Given the description of an element on the screen output the (x, y) to click on. 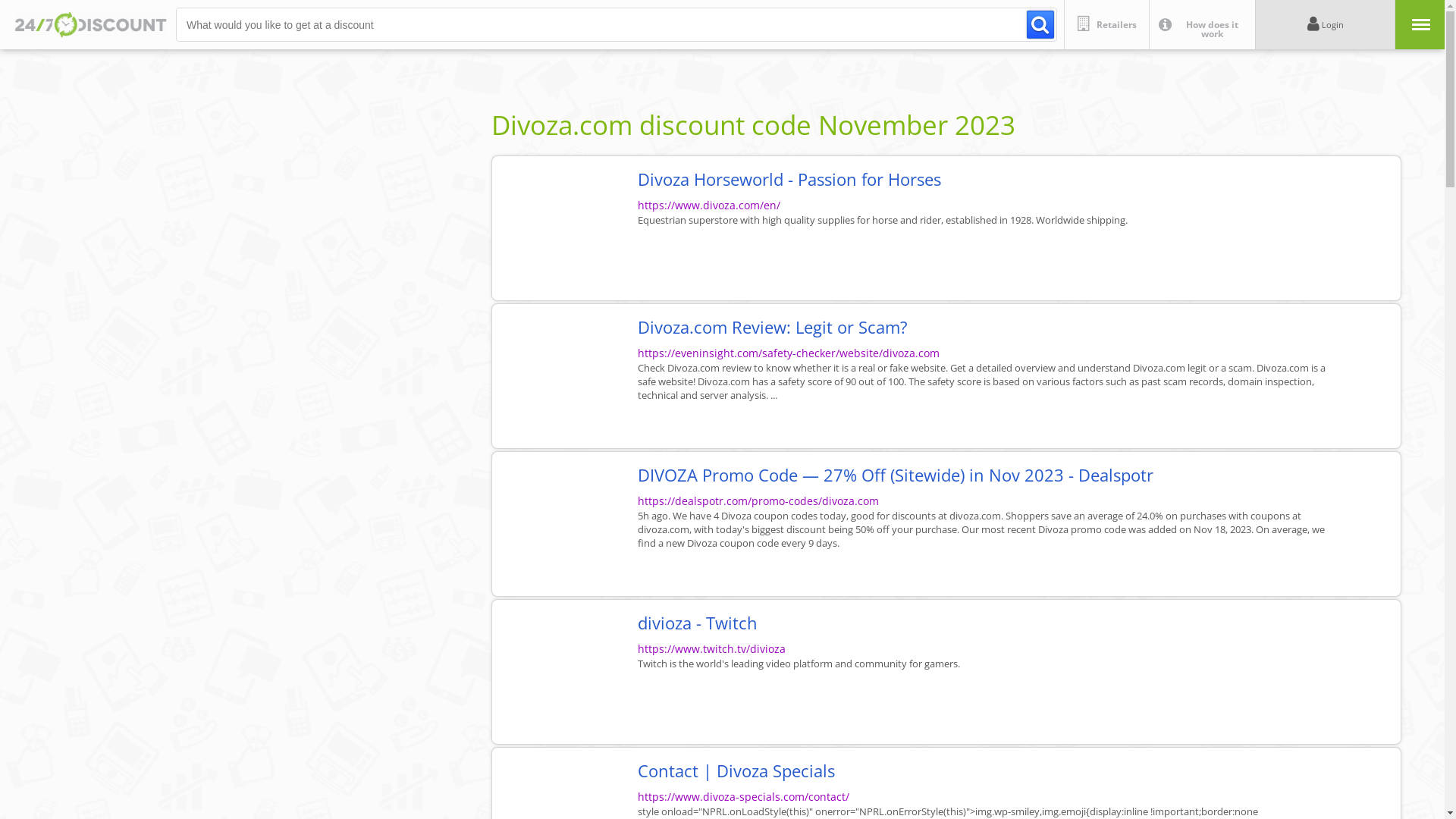
Login Element type: text (1325, 24)
How does it work Element type: text (1201, 24)
Retailers Element type: text (1105, 24)
